Given the description of an element on the screen output the (x, y) to click on. 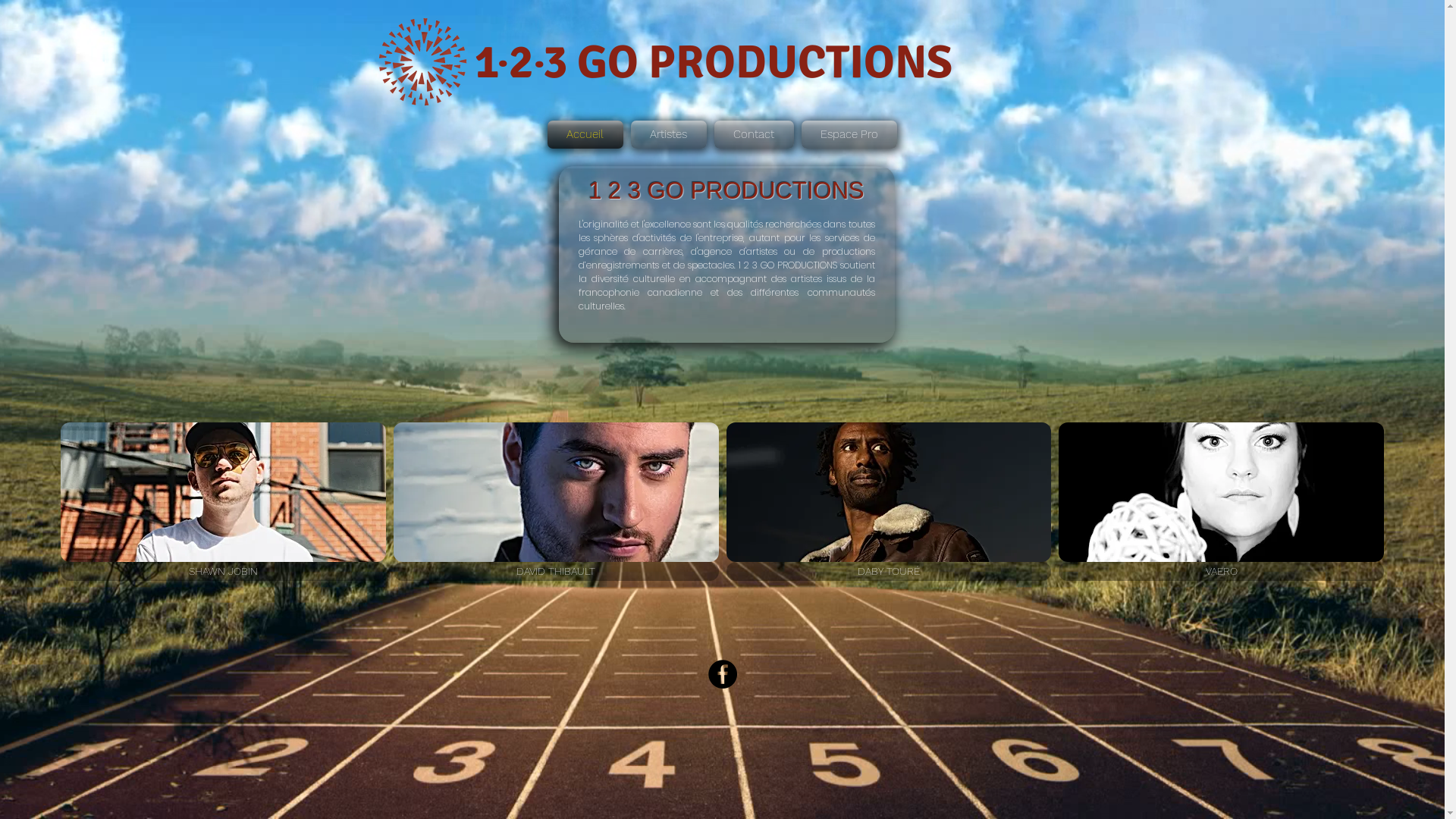
DAVID THIBAULT Element type: text (555, 501)
Edited Image 2014-11-21-12:14:20_edited Element type: hover (422, 62)
VAERO Element type: text (1220, 501)
Contact Element type: text (753, 134)
SHAWN JOBIN Element type: text (222, 501)
Artistes Element type: text (667, 134)
Accueil Element type: text (587, 134)
Espace Pro Element type: text (847, 134)
